Given the description of an element on the screen output the (x, y) to click on. 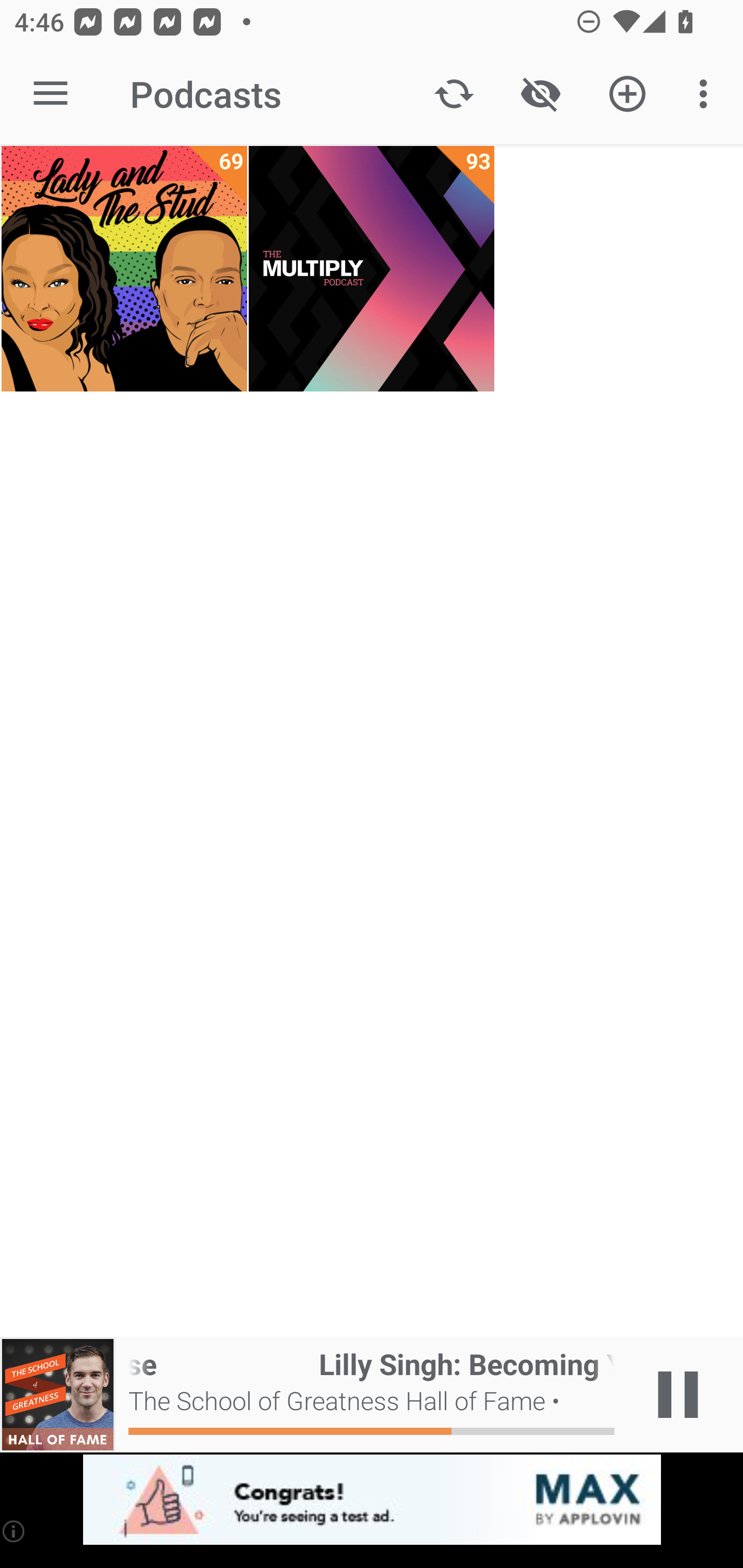
Open navigation sidebar (50, 93)
Update (453, 93)
Show / Hide played content (540, 93)
Add new Podcast (626, 93)
More options (706, 93)
Lady and The Stud 69 (124, 268)
The Multiply Podcast 93 (371, 268)
Play / Pause (677, 1394)
app-monetization (371, 1500)
(i) (14, 1531)
